Given the description of an element on the screen output the (x, y) to click on. 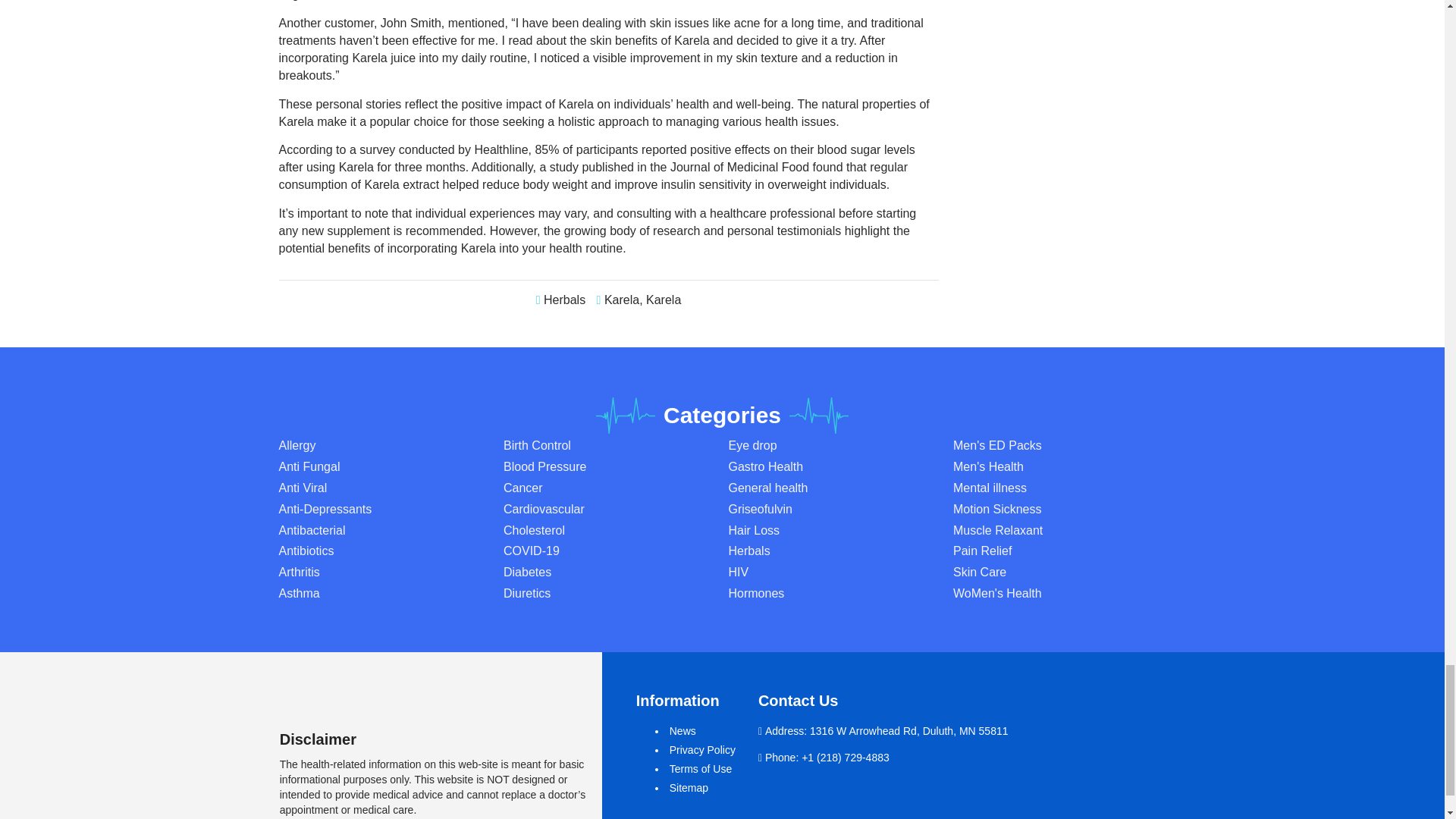
Herbals (564, 299)
